Given the description of an element on the screen output the (x, y) to click on. 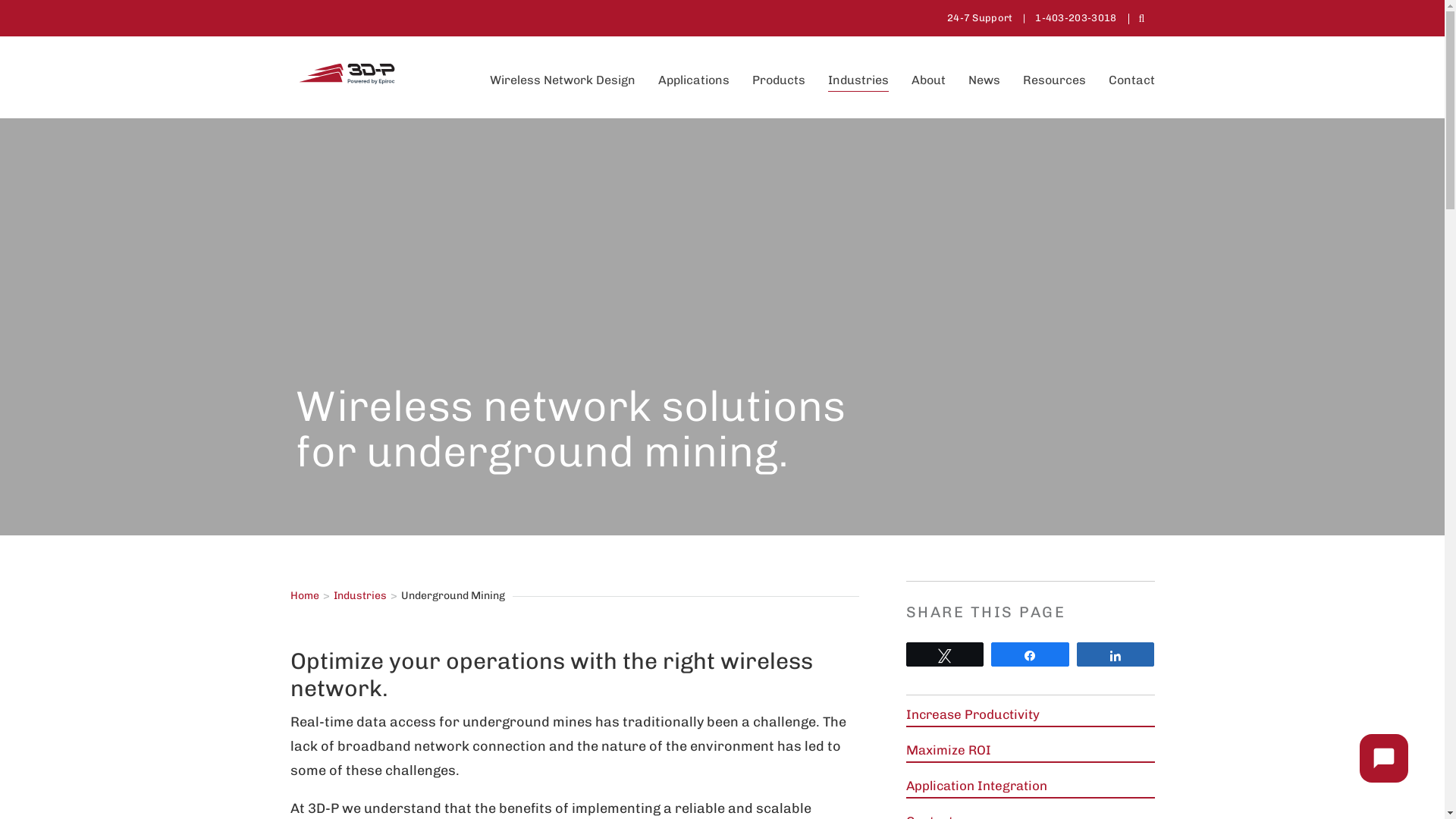
Resources Element type: text (1053, 80)
1-403-203-3018 Element type: text (1075, 17)
Success Stories Element type: text (439, 666)
Contact Element type: text (749, 666)
About Element type: text (928, 80)
English (English) Element type: text (855, 666)
LinkedIn Element type: text (617, 375)
24-7 Support Element type: text (980, 17)
Application Integration Element type: text (976, 785)
Industries Element type: text (858, 80)
Industries Element type: text (359, 595)
News Element type: text (983, 80)
Chatbot Element type: hover (1383, 757)
Wireless Network Design Element type: text (562, 80)
Increase Productivity Element type: text (972, 713)
Home Element type: text (303, 595)
Applications Element type: text (693, 80)
Products Element type: text (778, 80)
Privacy Policy Element type: text (660, 666)
24/7 Support Element type: text (553, 666)
Twitter Element type: text (617, 351)
Contact Element type: text (1131, 80)
Maximize ROI Element type: text (948, 749)
flowww uses Let's Encrypt SSL certificates Element type: hover (30, 804)
